Given the description of an element on the screen output the (x, y) to click on. 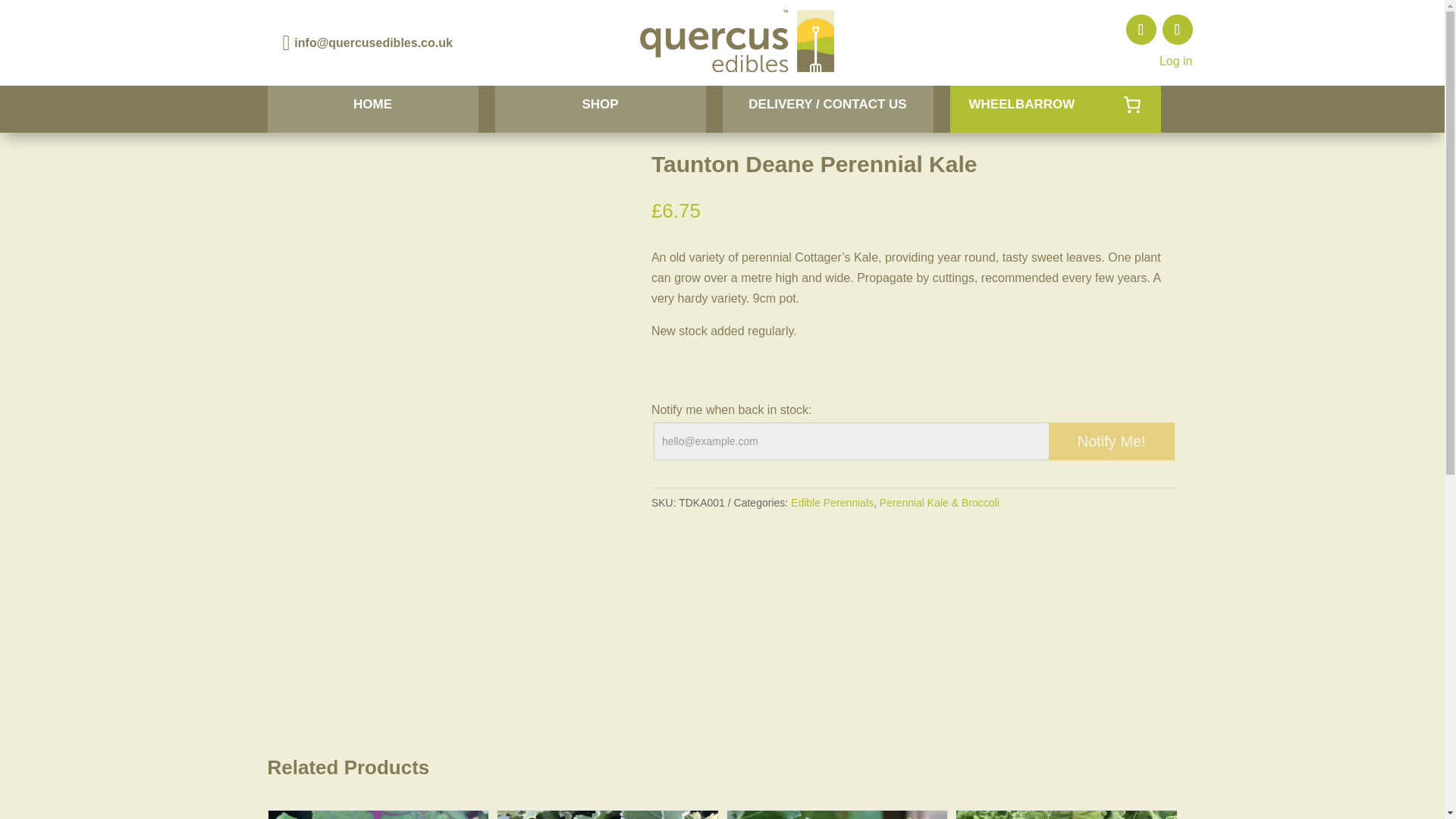
SHOP (599, 109)
HOME (371, 109)
Follow on Facebook (1140, 29)
quercus-logo (737, 42)
Log in (1175, 60)
Notify Me! (1111, 441)
Edible Perennials (831, 502)
Follow on Instagram (1176, 29)
WHEELBARROW (1054, 109)
